Given the description of an element on the screen output the (x, y) to click on. 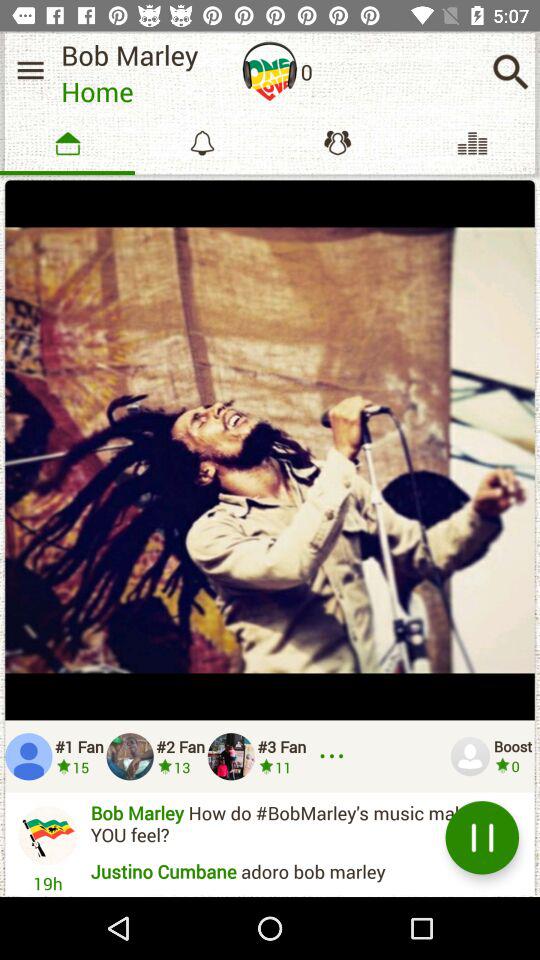
pauses currently playing song (482, 837)
